Given the description of an element on the screen output the (x, y) to click on. 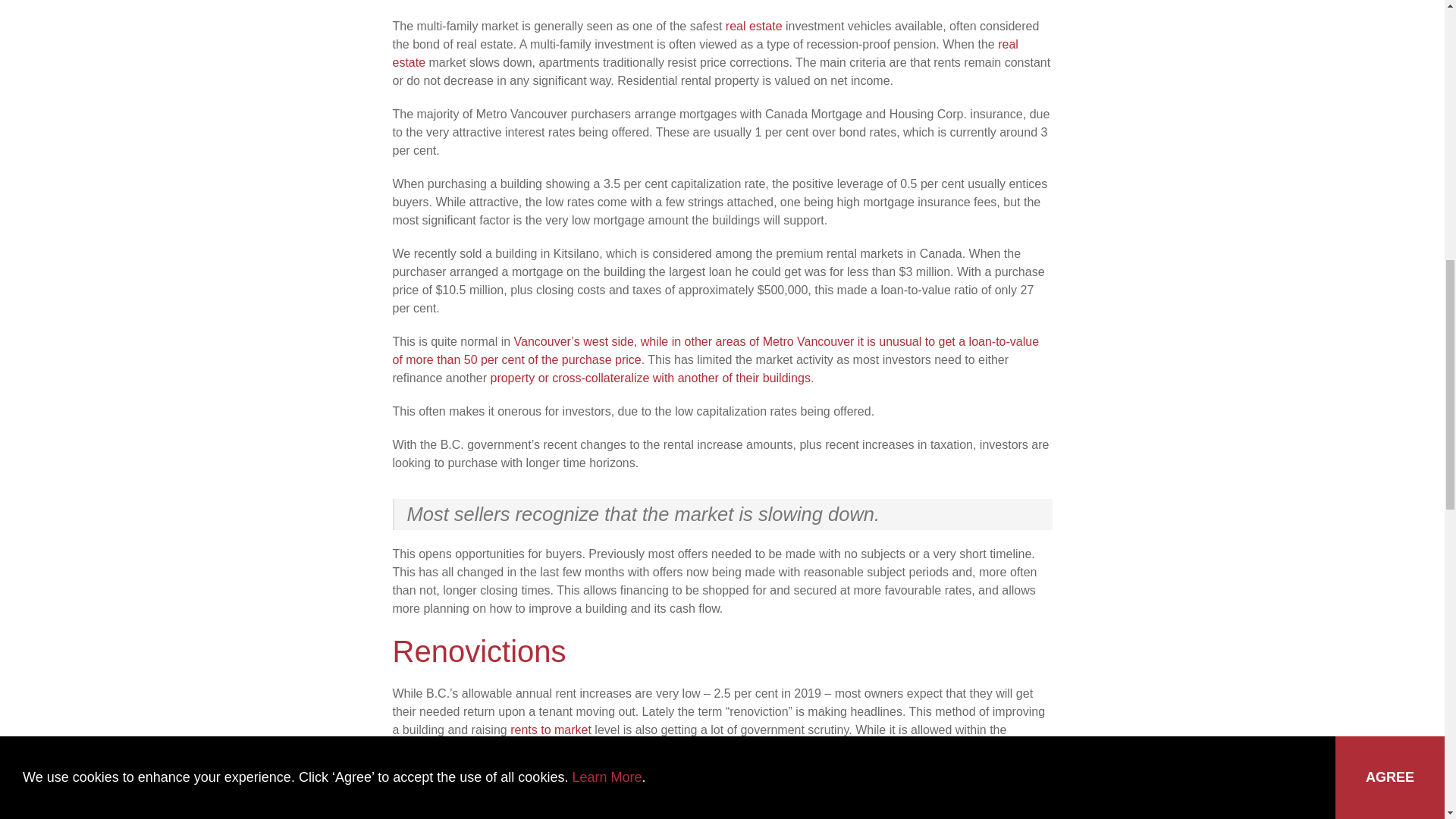
real estate (705, 52)
rents to market (551, 729)
real estate (754, 25)
